Given the description of an element on the screen output the (x, y) to click on. 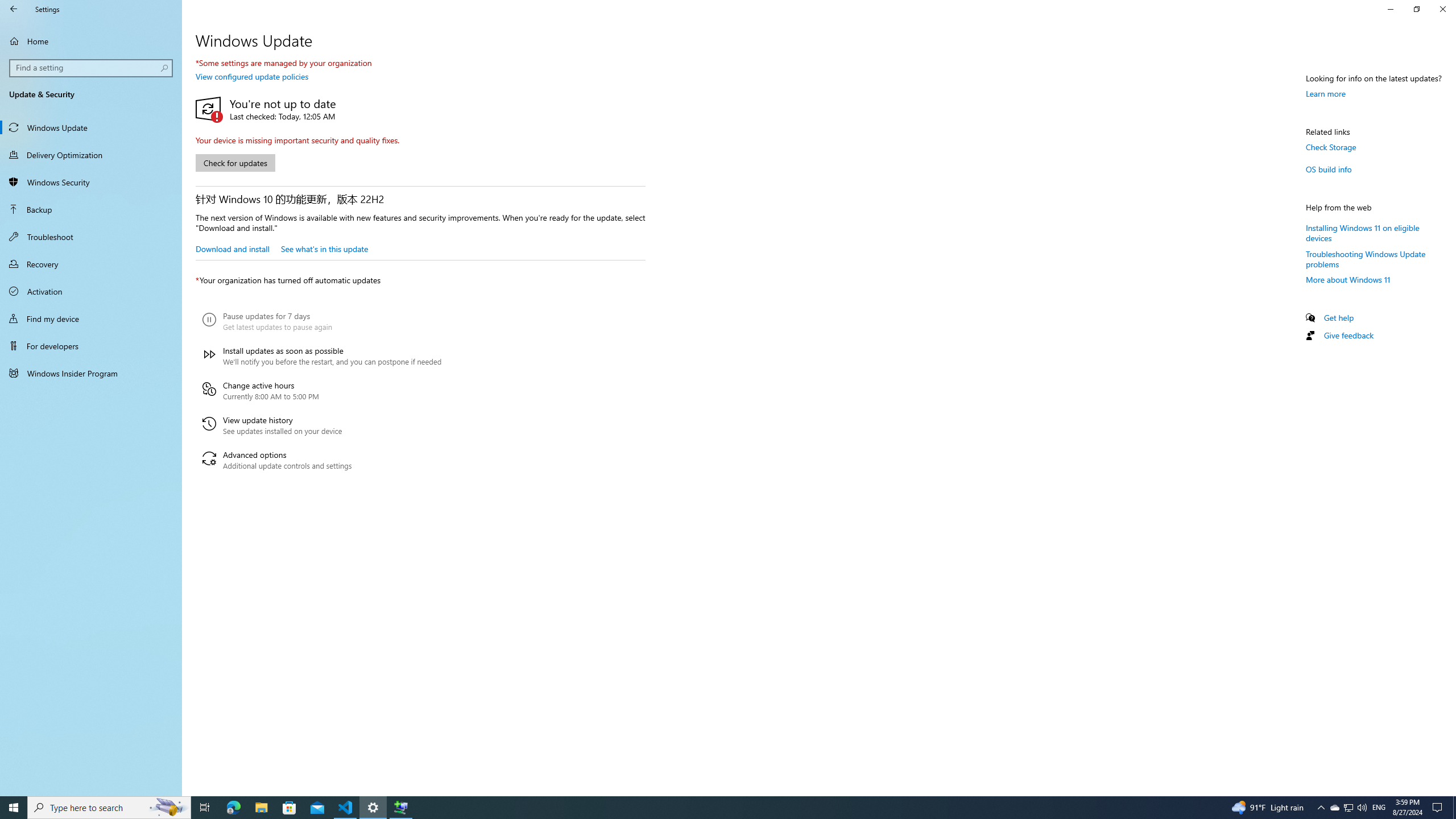
Check Storage (1331, 146)
Extensible Wizards Host Process - 1 running window (400, 807)
Find my device (91, 318)
Change active hours (321, 390)
Install updates as soon as possible (321, 356)
